Given the description of an element on the screen output the (x, y) to click on. 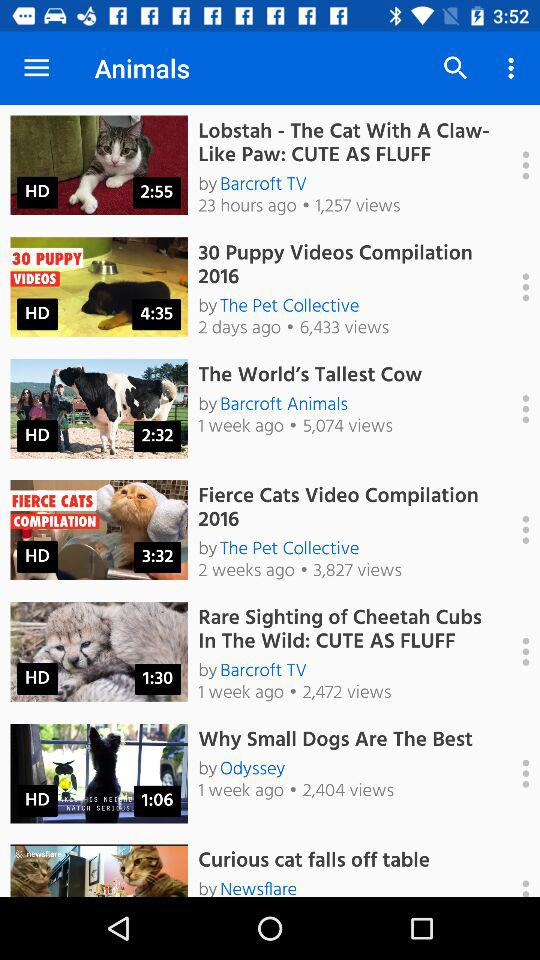
open options (515, 409)
